Given the description of an element on the screen output the (x, y) to click on. 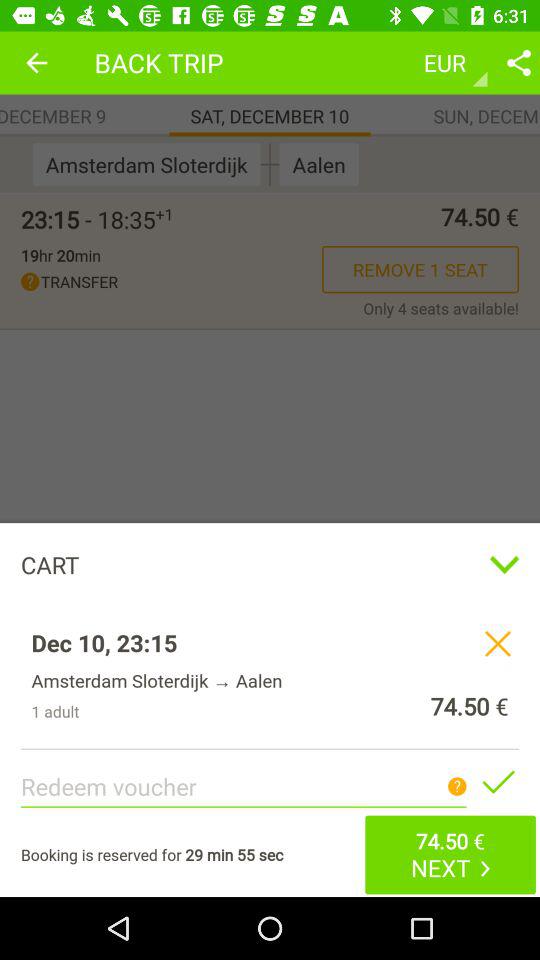
share (519, 62)
